Given the description of an element on the screen output the (x, y) to click on. 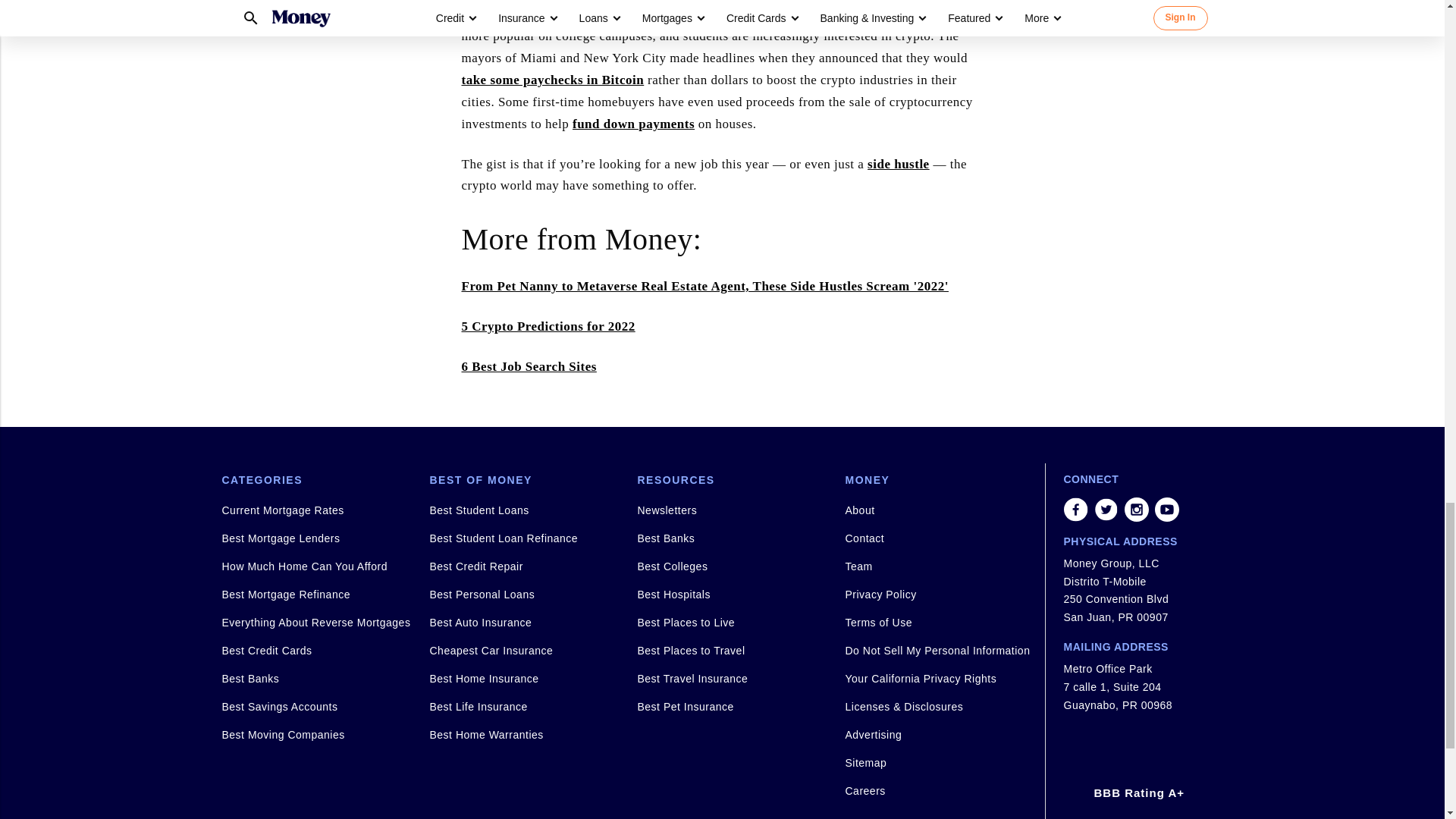
instagram share (1136, 509)
twitter share (1105, 509)
facebook share (1074, 509)
youtube share (1165, 509)
